Given the description of an element on the screen output the (x, y) to click on. 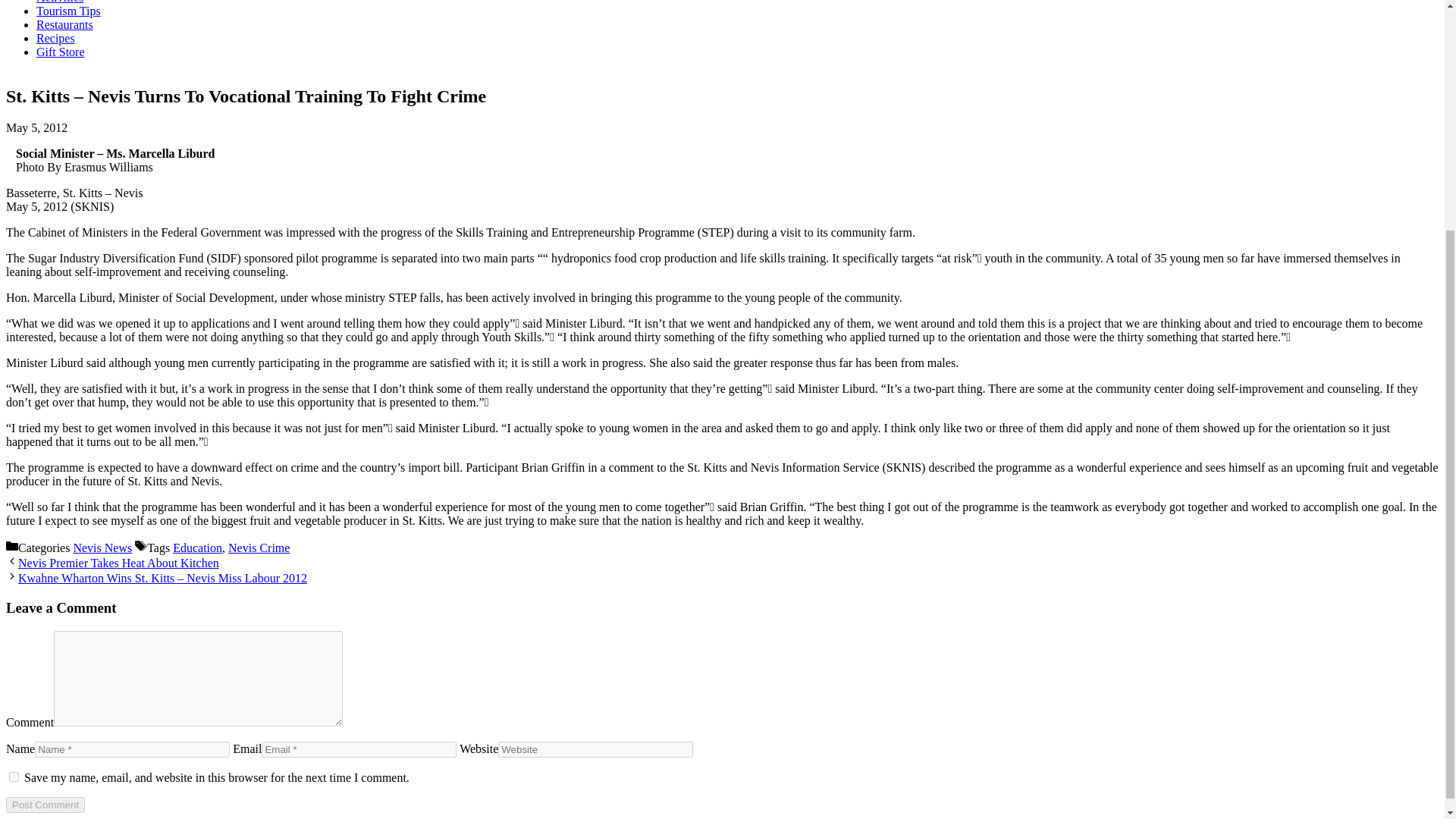
Education (197, 547)
yes (13, 777)
Post Comment (44, 804)
Nevis Premier Takes Heat About Kitchen (118, 562)
Gift Store (60, 51)
Nevis Crime (258, 547)
Activities (59, 2)
Tourism Tips (68, 10)
Nevis News (102, 547)
Post Comment (44, 804)
